Given the description of an element on the screen output the (x, y) to click on. 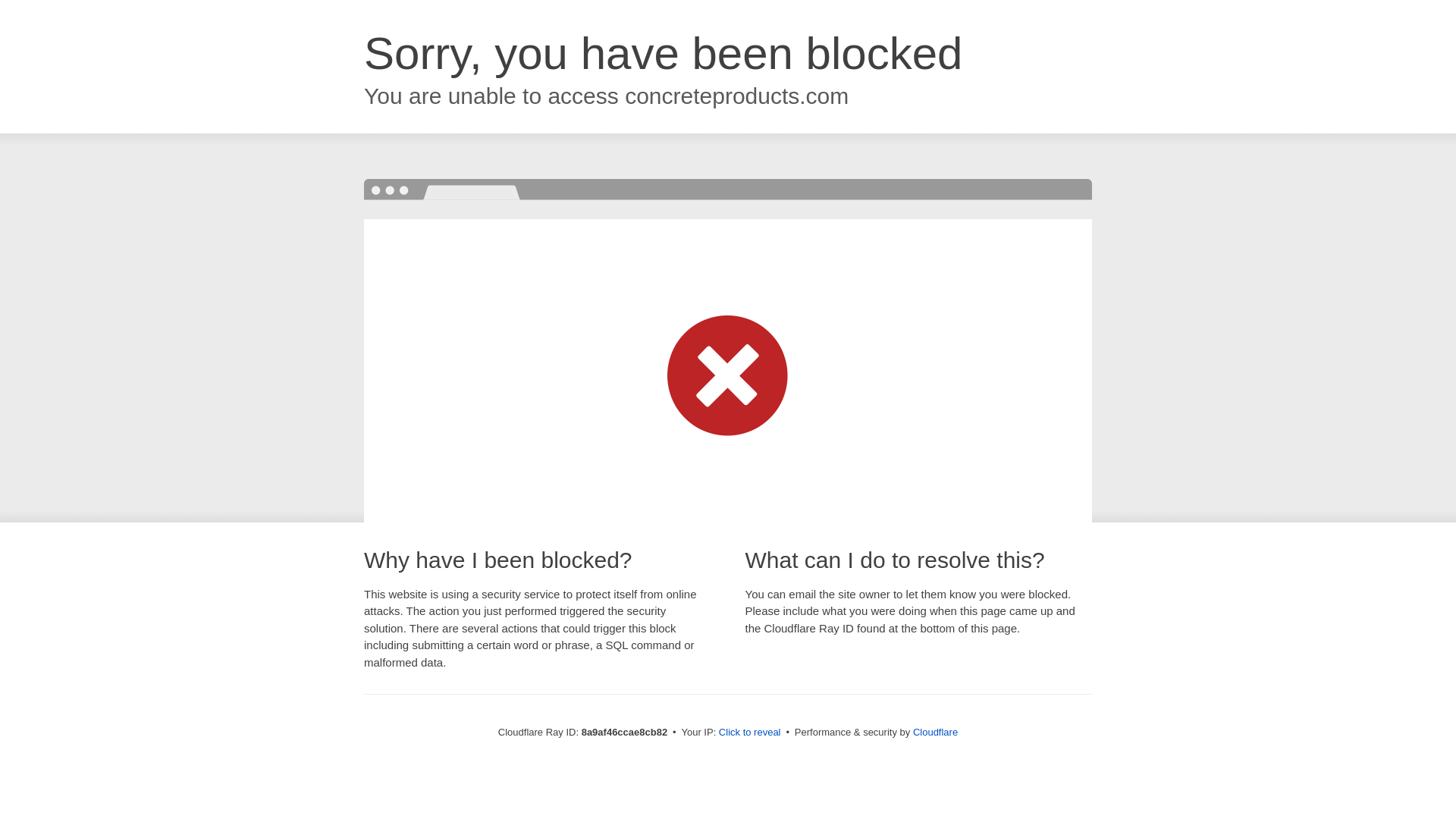
Click to reveal (749, 732)
Cloudflare (935, 731)
